Given the description of an element on the screen output the (x, y) to click on. 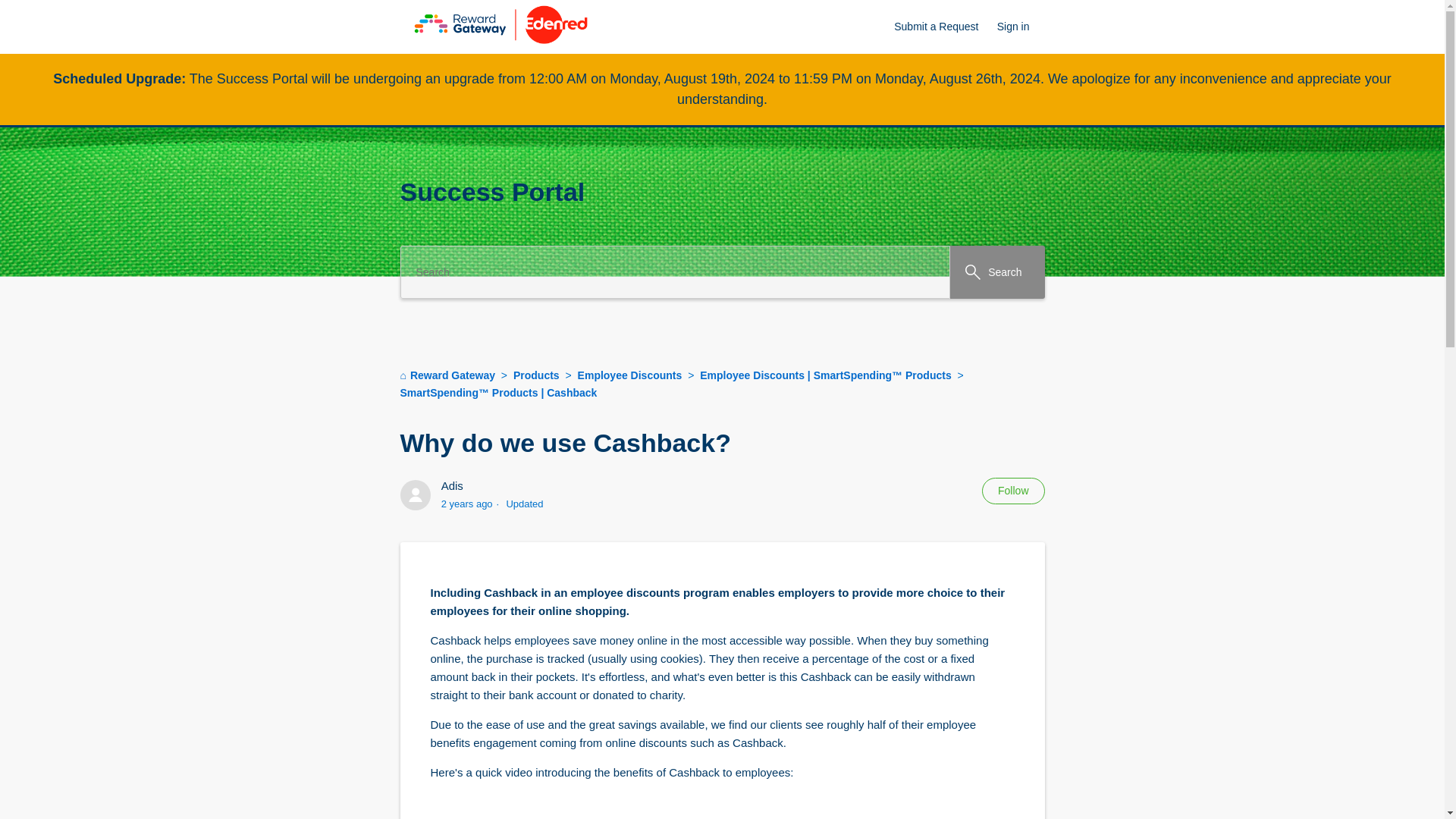
Submit a Request (942, 26)
Products  (529, 375)
Reward Gateway (447, 375)
2022-06-30 20:00 (467, 502)
Opens a dialog (1021, 26)
Follow (1012, 490)
Reward Gateway (448, 375)
Why do we use Cashback? (722, 443)
Opens a sign-in dialog (1012, 490)
Products (537, 375)
